Given the description of an element on the screen output the (x, y) to click on. 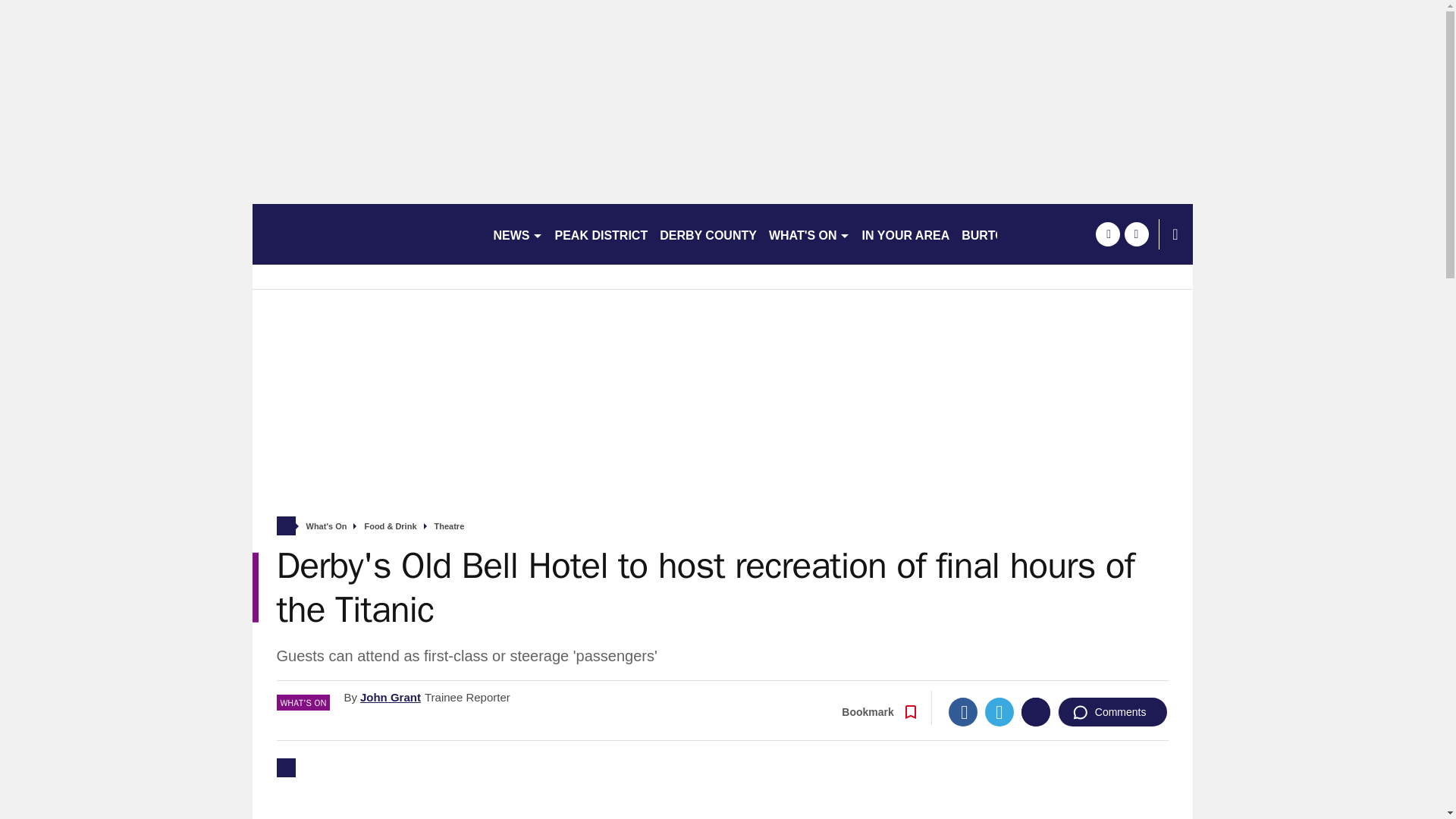
derbytelegraph (365, 233)
BURTONLIVE (1000, 233)
DERBY COUNTY (707, 233)
IN YOUR AREA (906, 233)
Twitter (999, 711)
NEWS (517, 233)
twitter (1136, 233)
facebook (1106, 233)
Comments (1112, 711)
WHAT'S ON (809, 233)
